Given the description of an element on the screen output the (x, y) to click on. 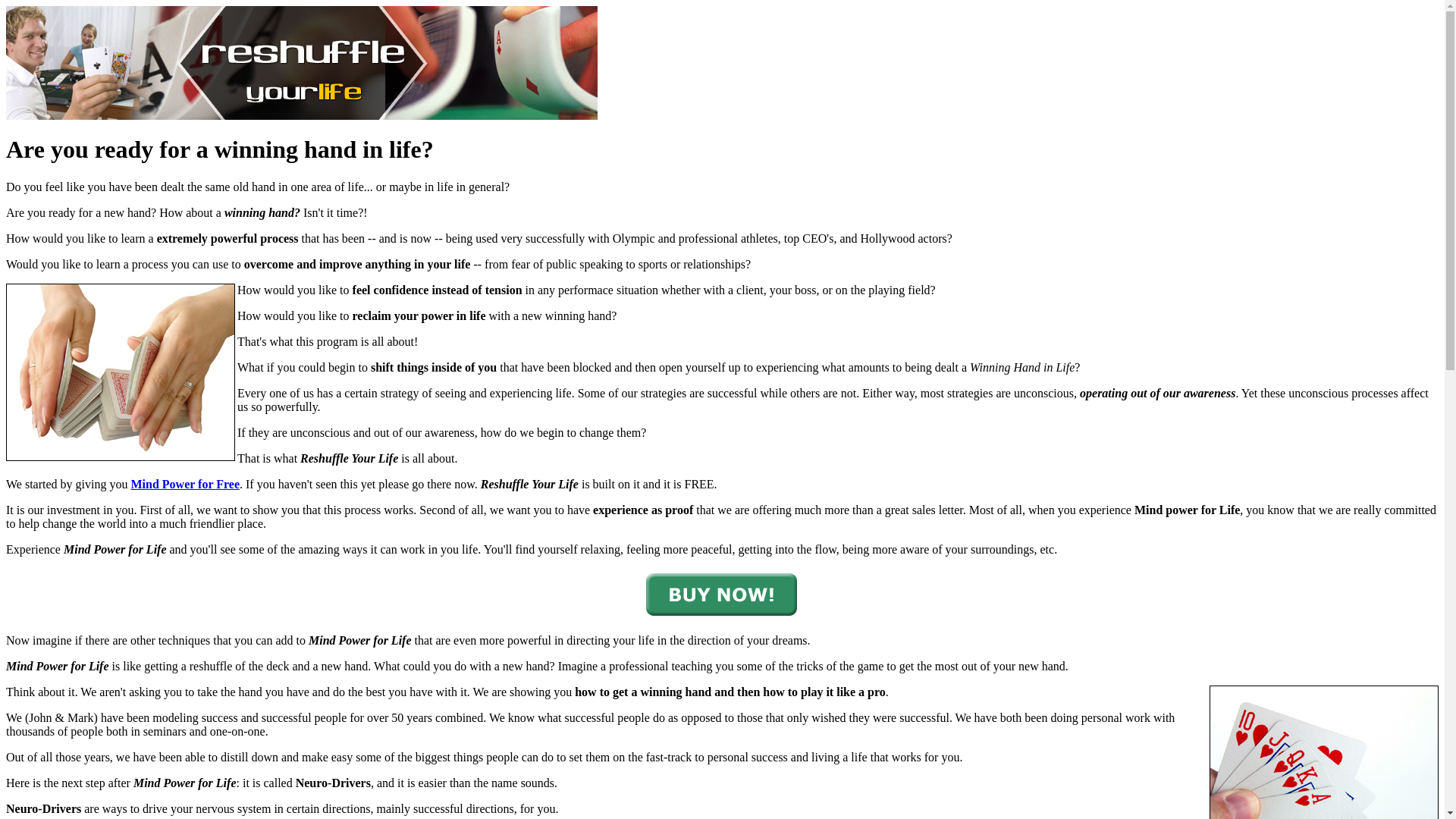
Mind Power for Free (185, 483)
